Given the description of an element on the screen output the (x, y) to click on. 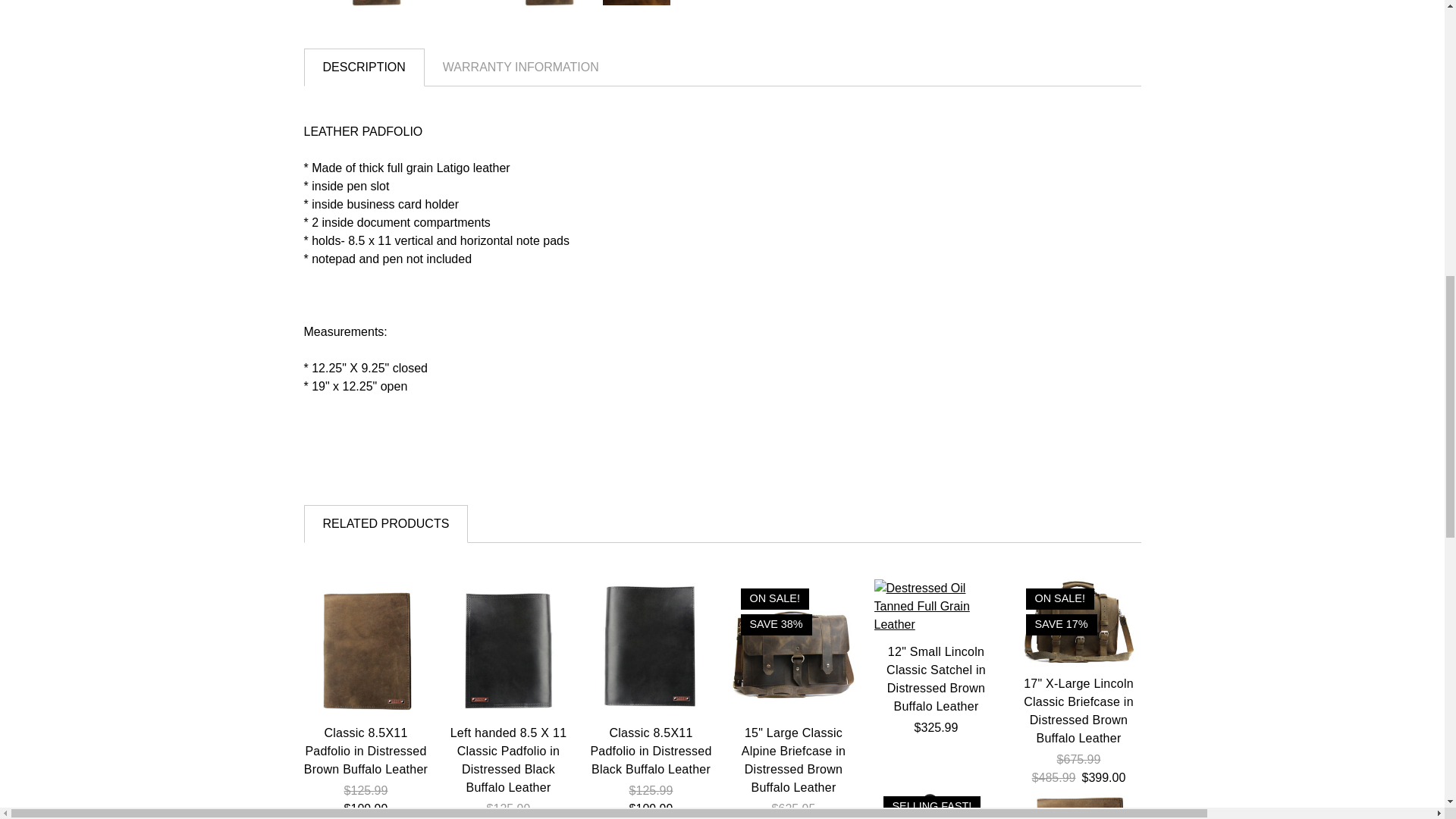
Classic 8.5X11 Padfolio in Distressed Black Buffalo Leather (650, 646)
Classic 8.5X11 Padfolio in Distressed Brown Buffalo Leather (365, 646)
Destressed Oil Tanned Full Grain Leather (935, 606)
Personalize it with a name or initials (1078, 803)
